Given the description of an element on the screen output the (x, y) to click on. 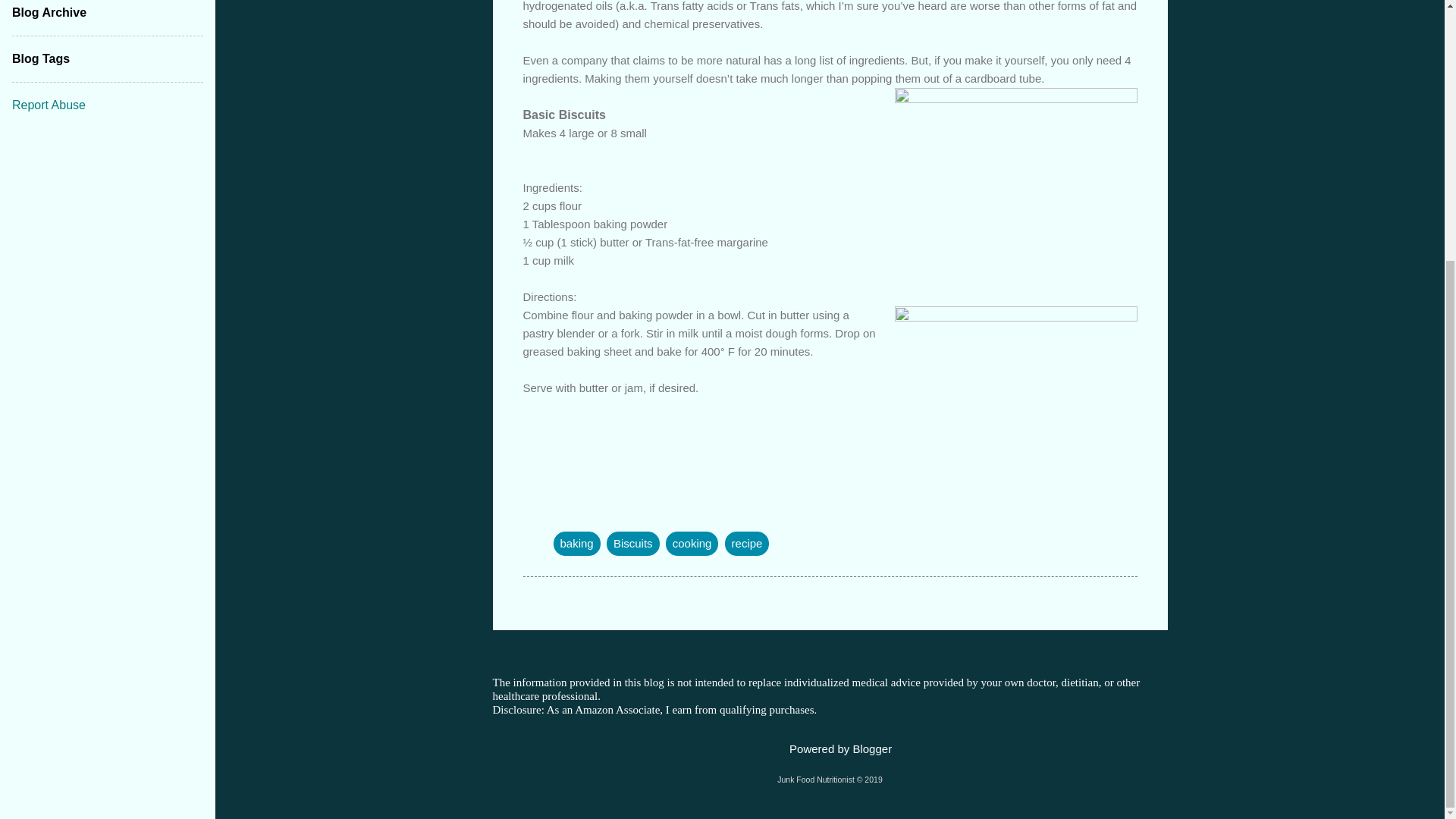
Powered by Blogger (829, 748)
baking (576, 543)
cooking (692, 543)
recipe (747, 543)
Biscuits (633, 543)
